Given the description of an element on the screen output the (x, y) to click on. 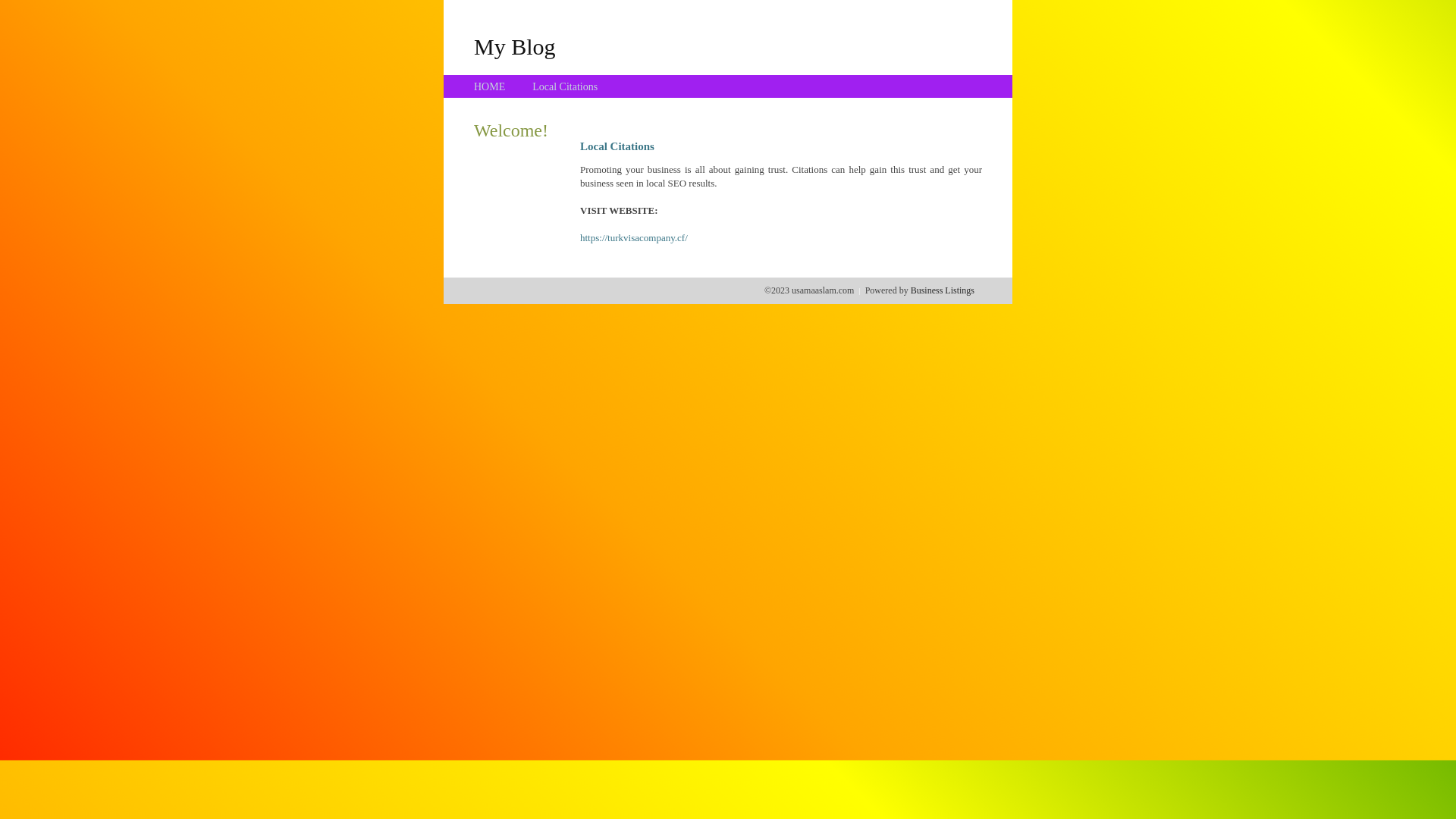
HOME Element type: text (489, 86)
Local Citations Element type: text (564, 86)
My Blog Element type: text (514, 46)
Business Listings Element type: text (942, 290)
https://turkvisacompany.cf/ Element type: text (633, 237)
